Given the description of an element on the screen output the (x, y) to click on. 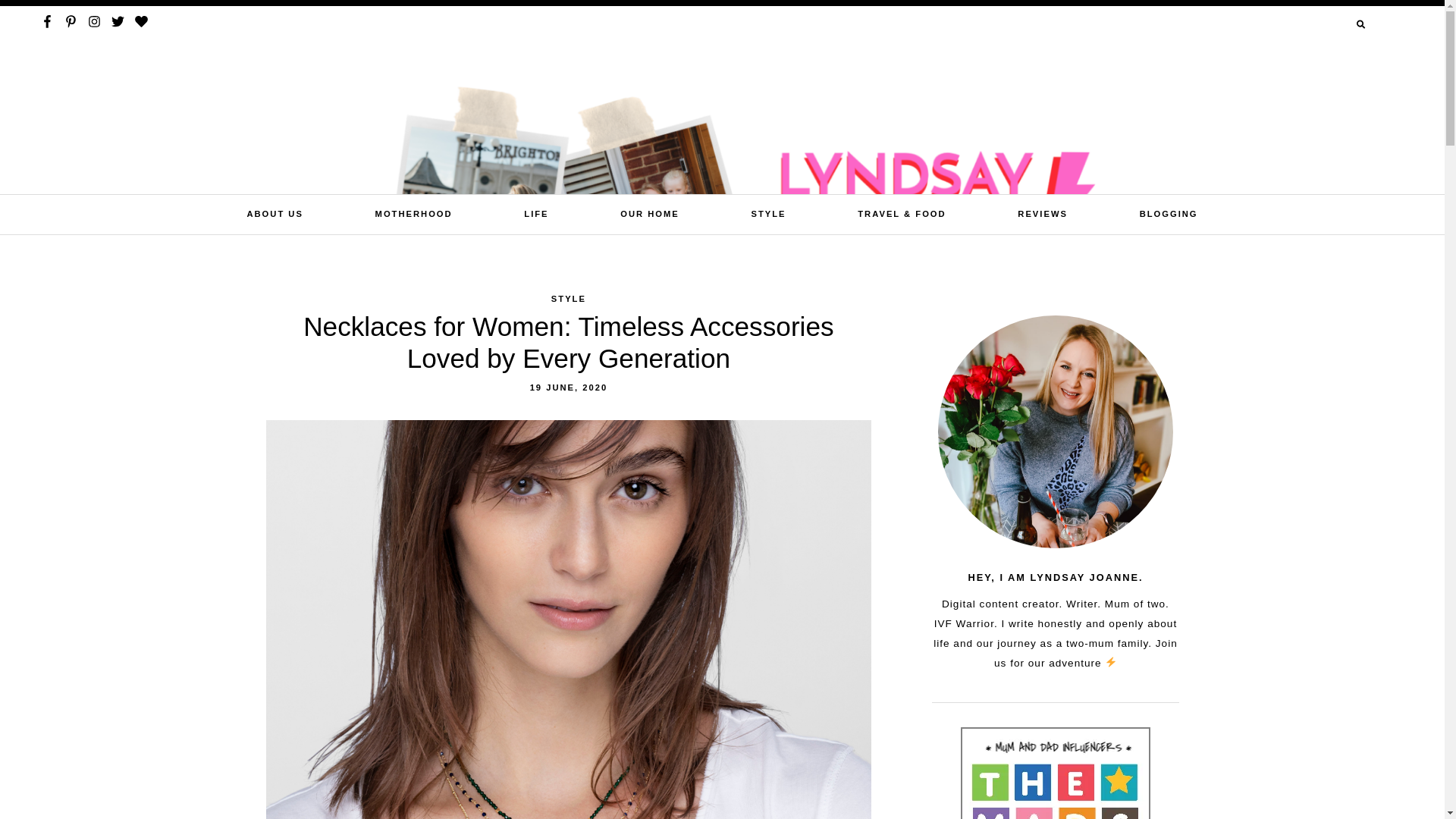
Search for: (1319, 23)
